Given the description of an element on the screen output the (x, y) to click on. 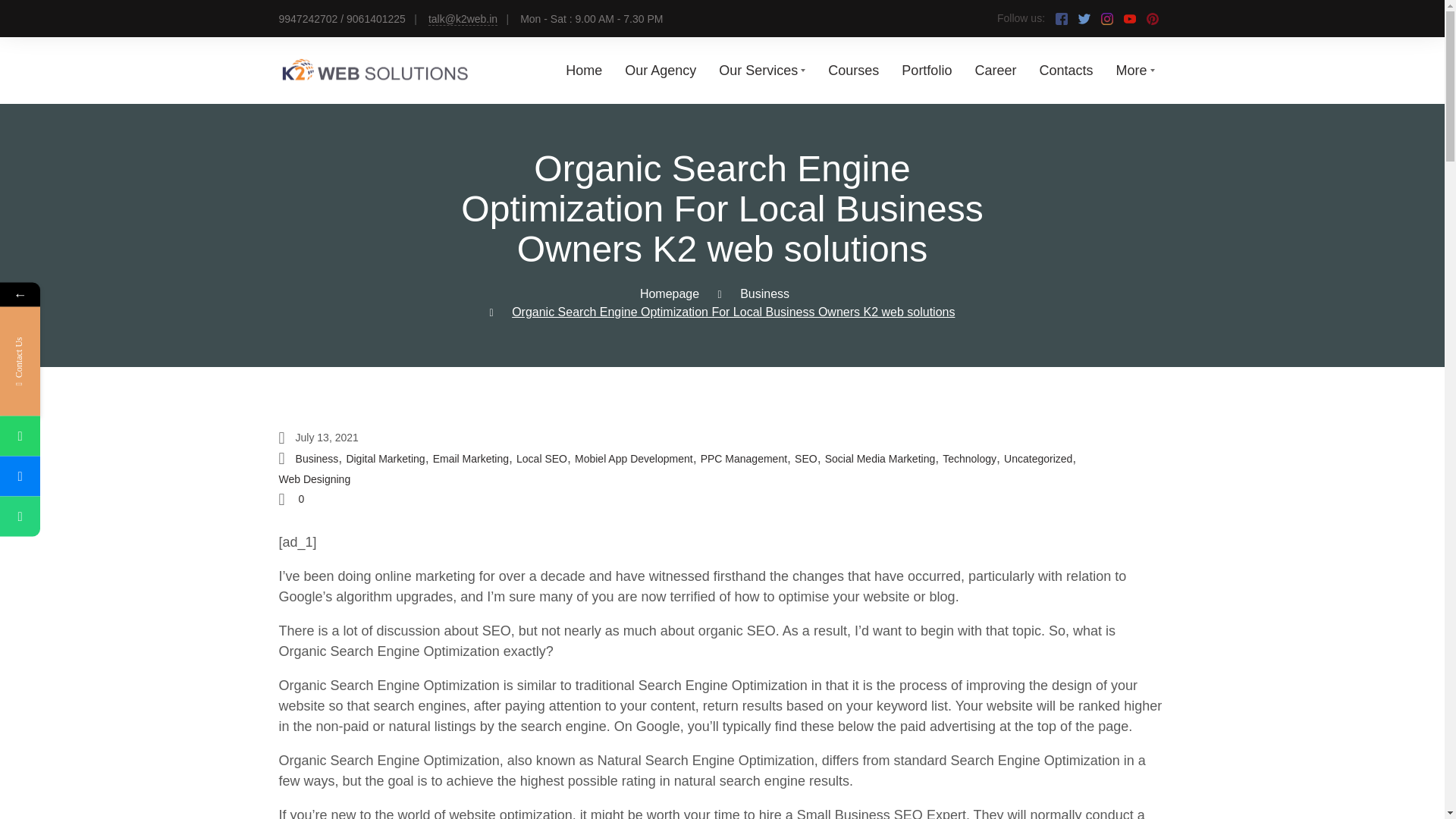
Business (317, 458)
Homepage (669, 293)
Portfolio (926, 69)
Career (995, 69)
More (1134, 69)
Contacts (1066, 69)
Home (584, 69)
Our Services (762, 69)
Our Agency (659, 69)
